Given the description of an element on the screen output the (x, y) to click on. 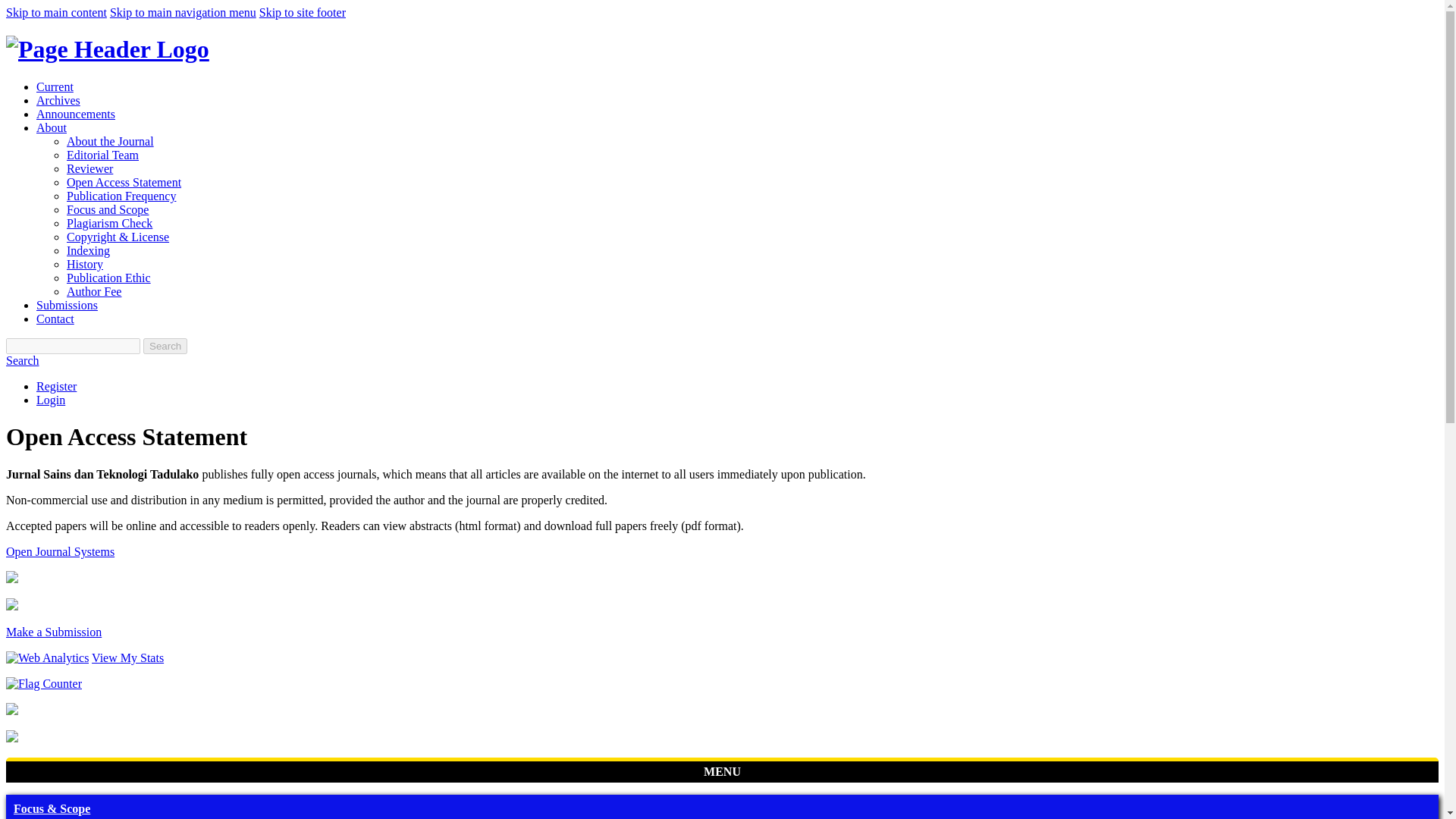
Editorial Team (102, 154)
About the Journal (110, 141)
Submissions (66, 305)
Indexing (88, 250)
Skip to main navigation menu (183, 11)
History (84, 264)
Archives (58, 100)
Reviewer (89, 168)
Web Analytics (46, 657)
Make a Submission (53, 631)
